Given the description of an element on the screen output the (x, y) to click on. 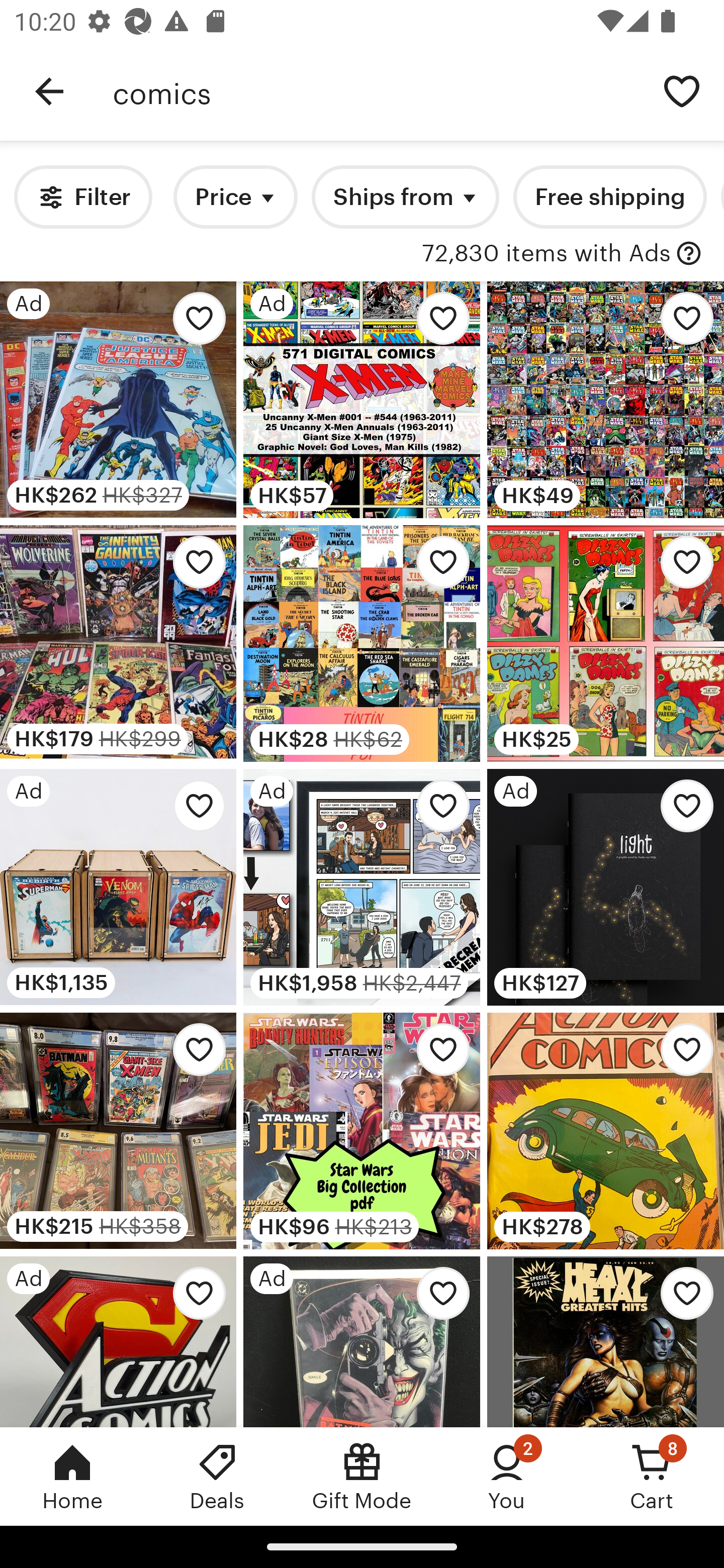
Navigate up (49, 91)
Save search (681, 90)
comics (375, 91)
Filter (82, 197)
Price (235, 197)
Ships from (405, 197)
Free shipping (609, 197)
72,830 items with Ads (546, 253)
with Ads (688, 253)
Add Star Wars Comics Collection to favorites (681, 322)
Add Tin Tin Comics Book to favorites (438, 567)
Add Star Wars Comics Book to favorites (438, 1054)
Deals (216, 1475)
Gift Mode (361, 1475)
You, 2 new notifications You (506, 1475)
Cart, 8 new notifications Cart (651, 1475)
